Given the description of an element on the screen output the (x, y) to click on. 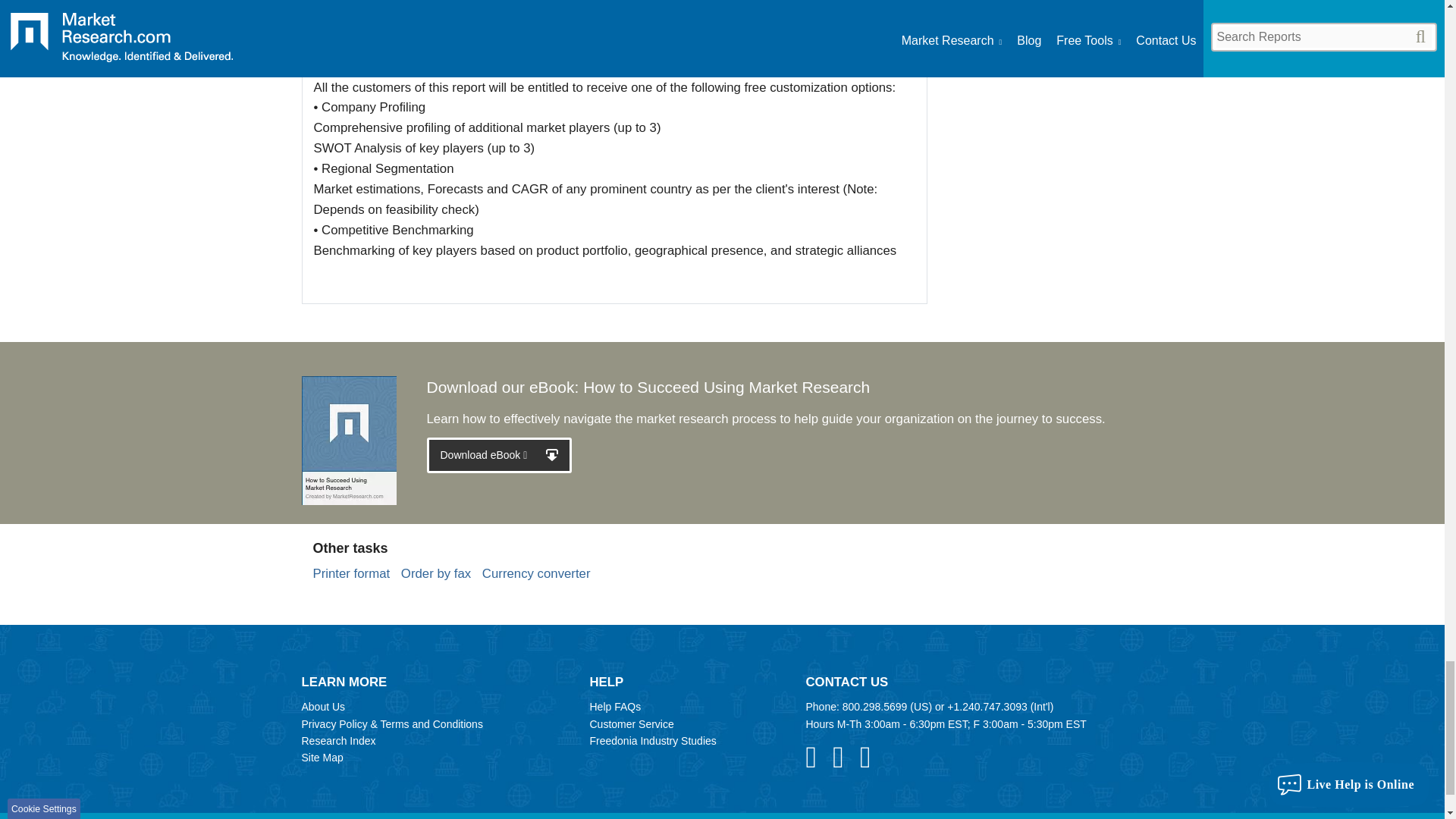
Download eBook (499, 455)
